Given the description of an element on the screen output the (x, y) to click on. 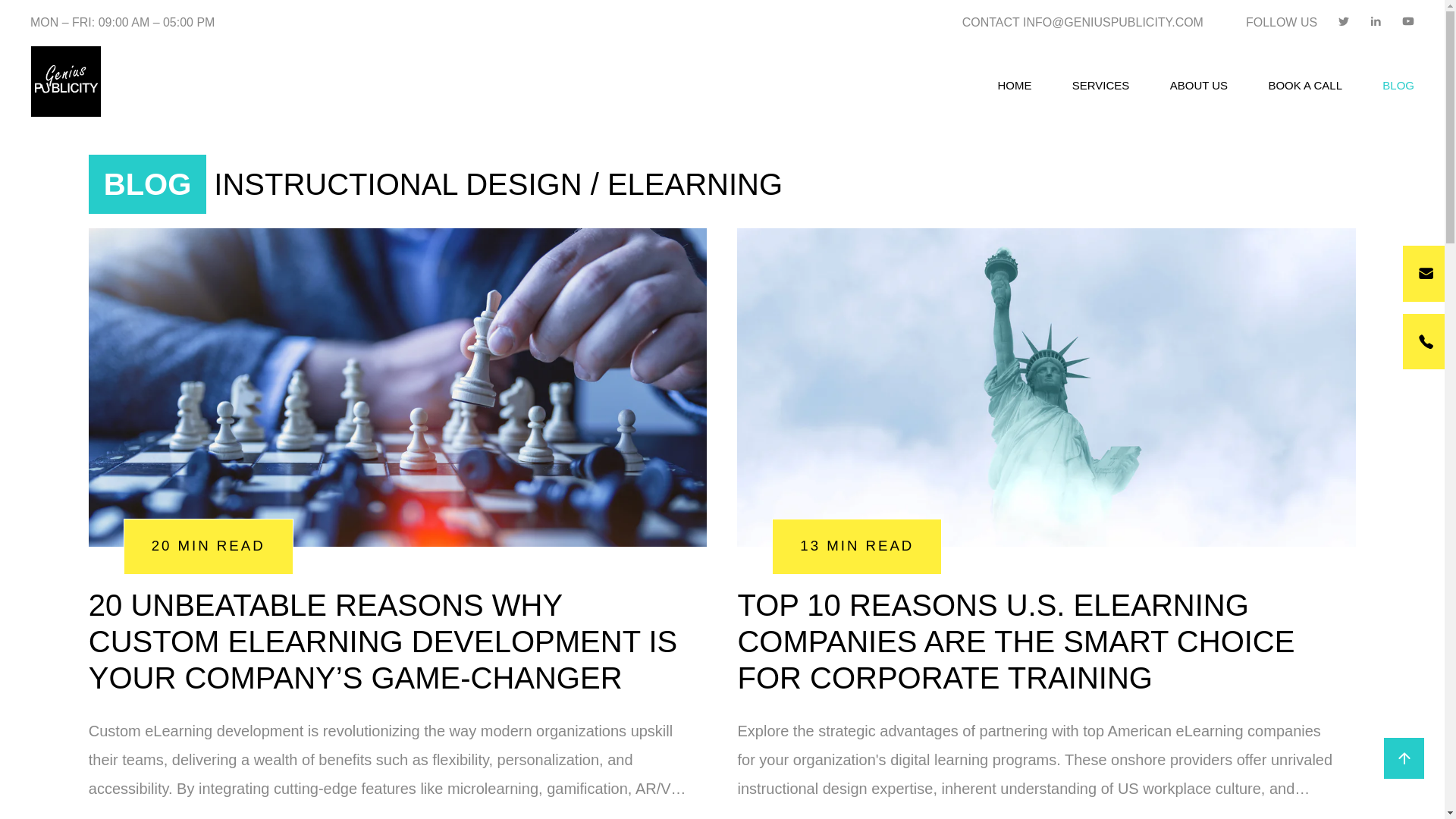
SERVICES (1100, 84)
HOME (1013, 84)
ABOUT US (1198, 84)
BLOG (1397, 84)
BOOK A CALL (1305, 84)
